Given the description of an element on the screen output the (x, y) to click on. 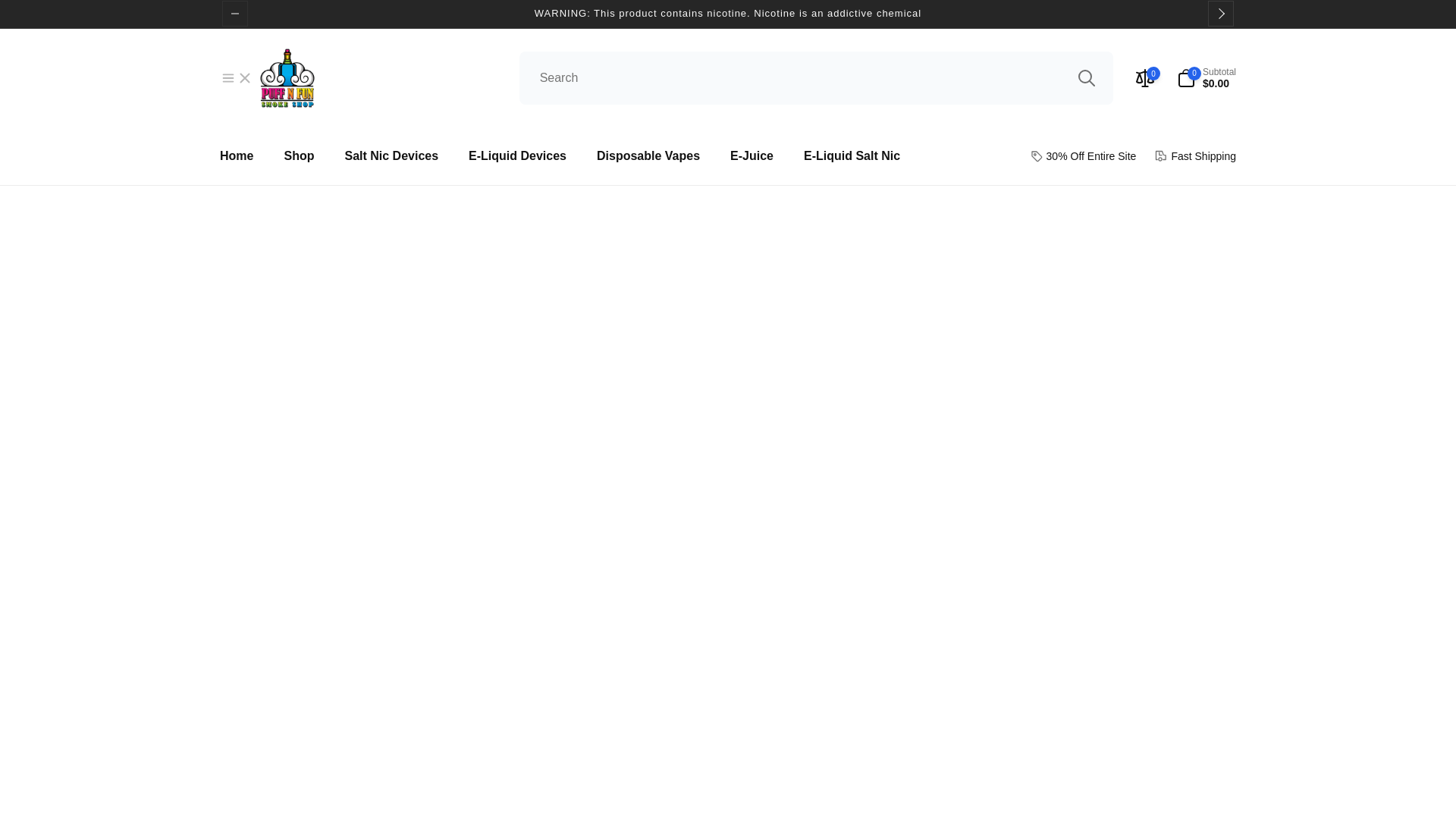
Home (236, 156)
Disposable Vapes (648, 156)
0 (1144, 78)
Salt Nic Devices (391, 156)
E-Liquid Salt Nic (851, 156)
E-Liquid Devices (517, 156)
Shop (298, 156)
E-Juice (751, 156)
Skip to content (23, 9)
